Given the description of an element on the screen output the (x, y) to click on. 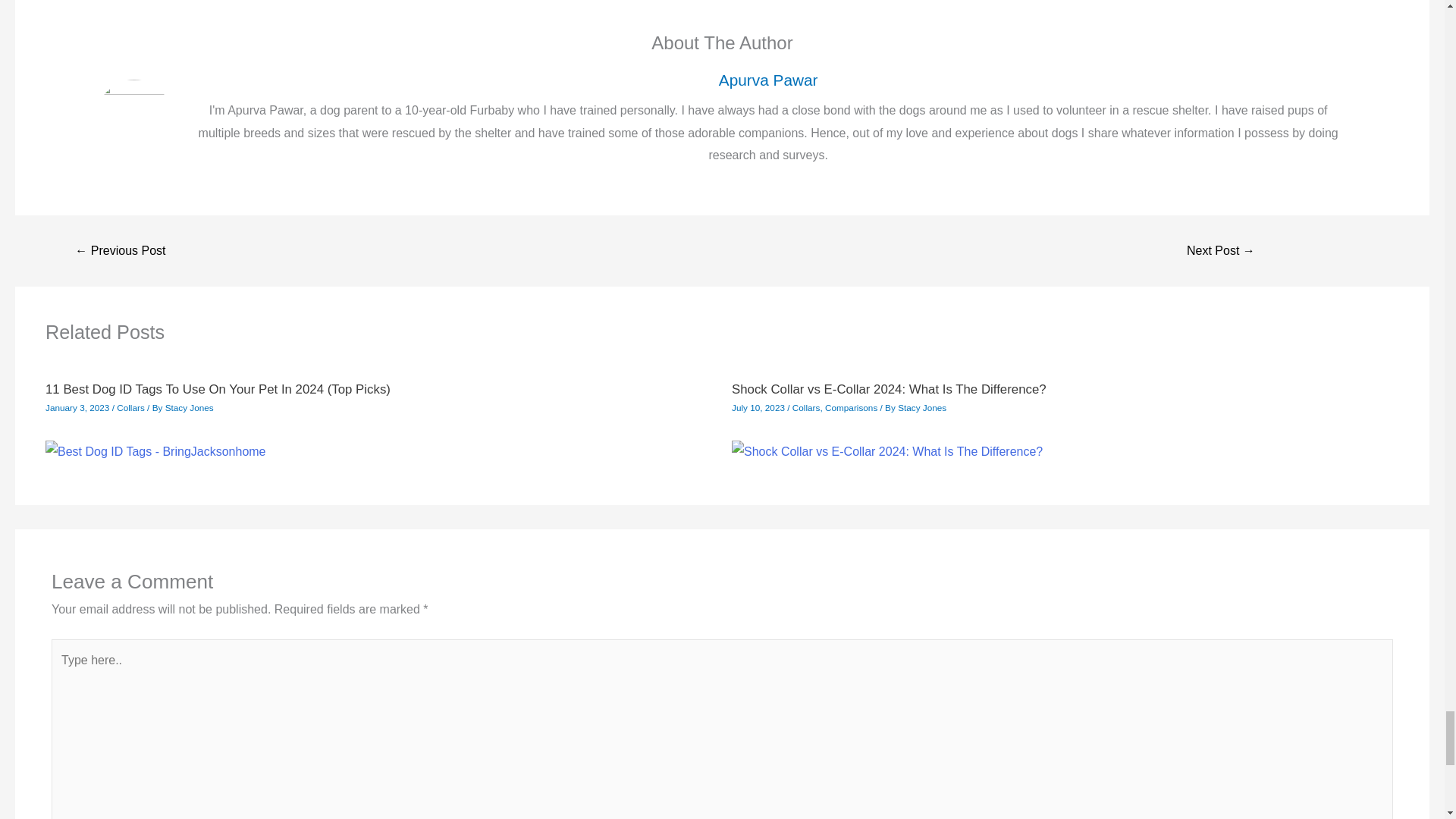
Stacy Jones (189, 153)
View all posts by Stacy Jones (922, 153)
Collars (806, 153)
yes (55, 682)
View all posts by Stacy Jones (189, 153)
Shock Collar vs E-Collar 2024: What Is The Difference? (889, 134)
Collars (130, 153)
